Given the description of an element on the screen output the (x, y) to click on. 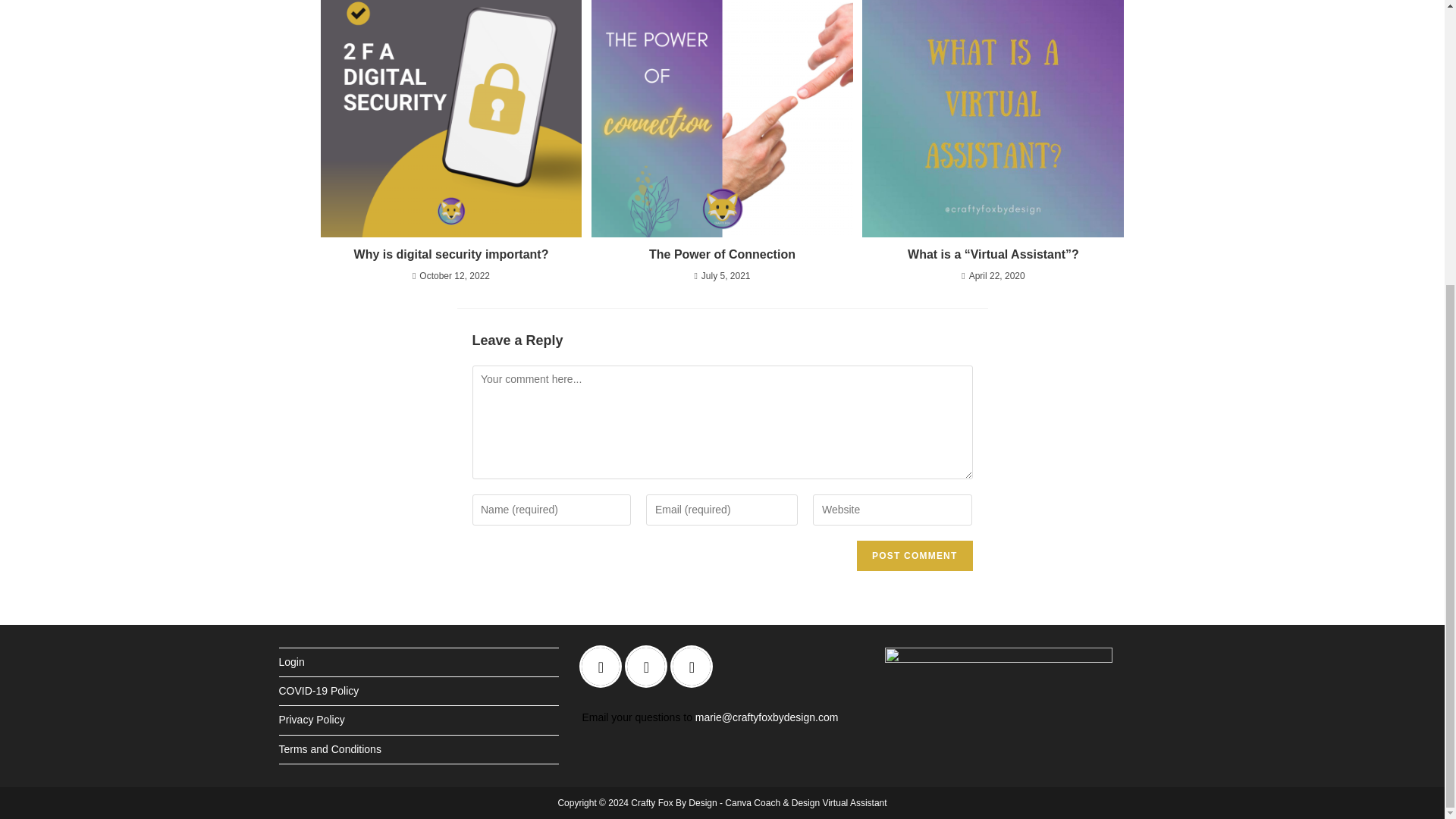
Why is digital security important? (450, 254)
Post Comment (914, 555)
Post Comment (914, 555)
The Power of Connection (721, 254)
